Given the description of an element on the screen output the (x, y) to click on. 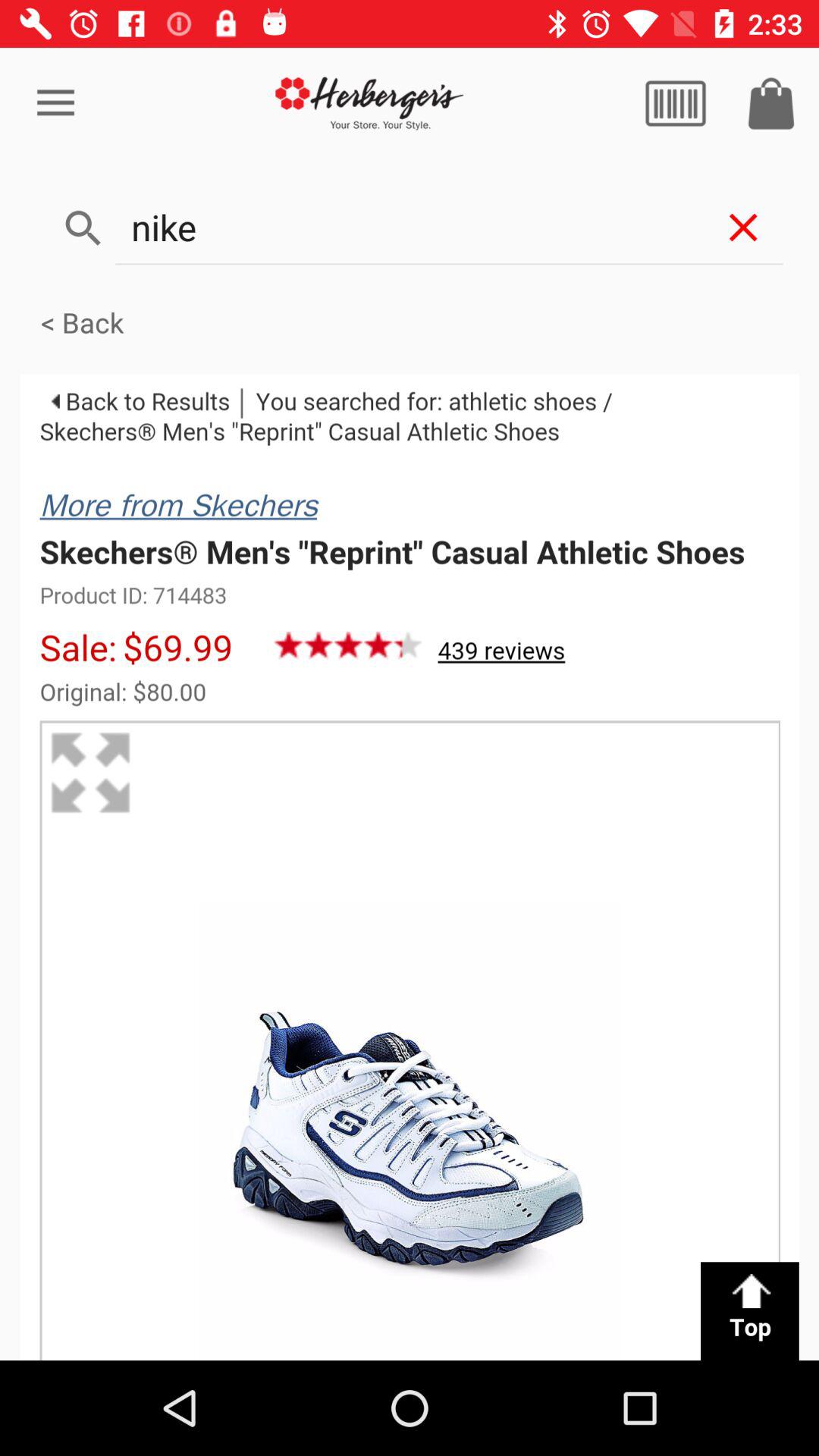
save to cart add to cart (771, 103)
